Given the description of an element on the screen output the (x, y) to click on. 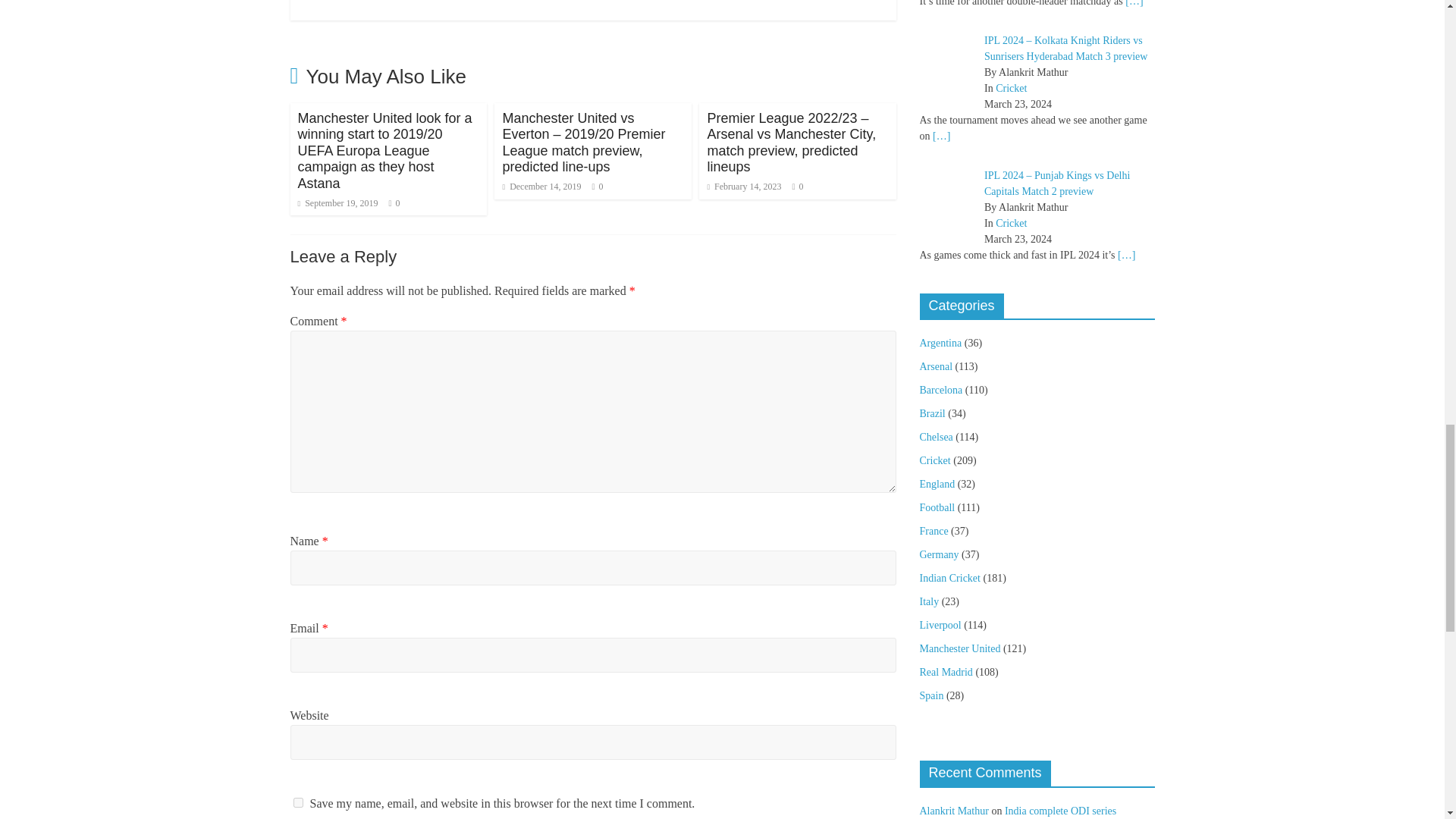
11:20 am (541, 185)
yes (297, 802)
7:08 am (743, 185)
10:48 am (337, 203)
